Given the description of an element on the screen output the (x, y) to click on. 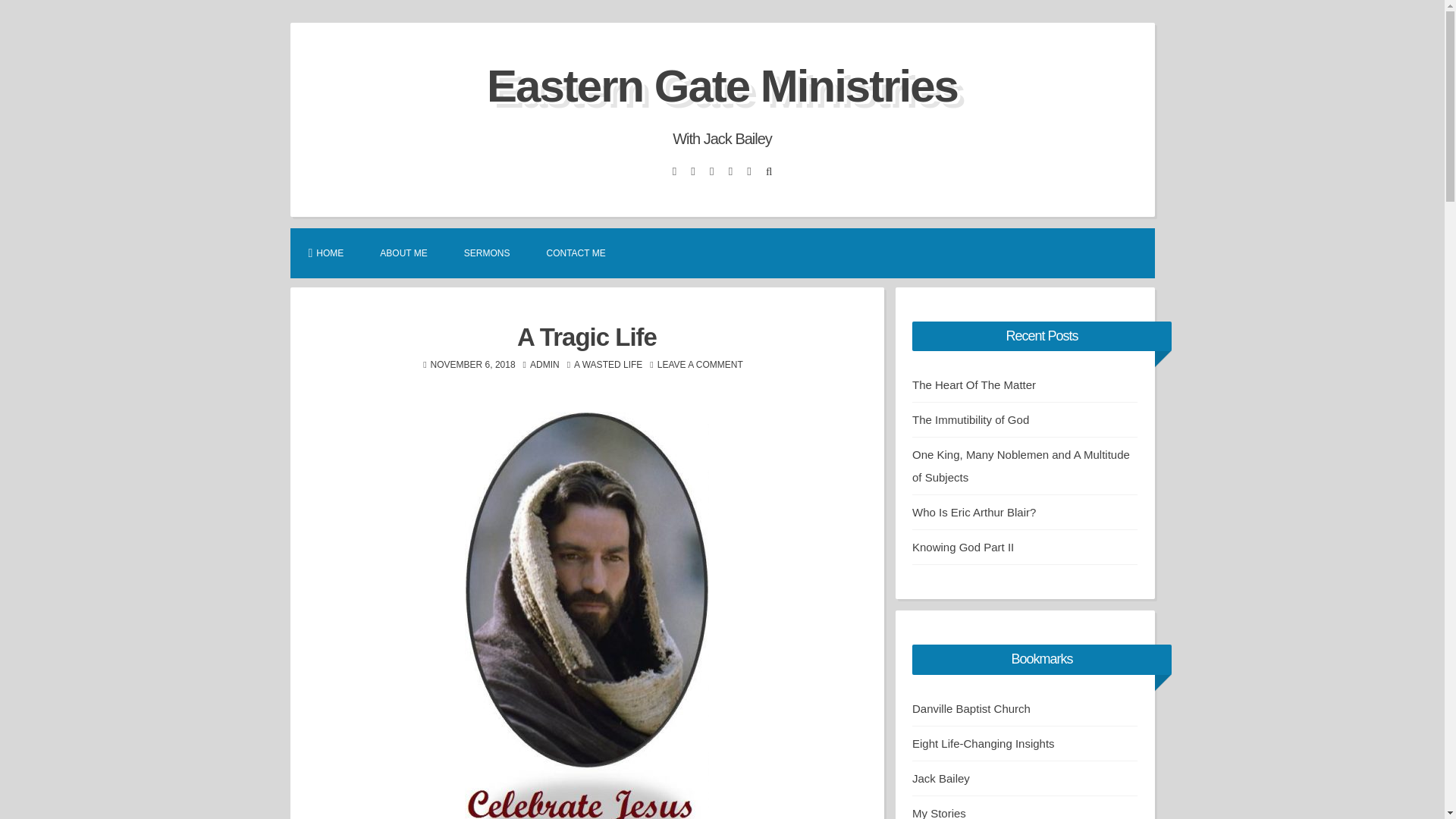
Eastern Gate Ministries (722, 85)
Who Is Eric Arthur Blair? (973, 512)
Jack Bailey (940, 778)
ABOUT ME (403, 252)
Knowing God Part II (962, 546)
The Immutibility of God (970, 419)
Dealing with Critical Life Issues (940, 778)
The Heart Of The Matter (973, 384)
Eight Life-Changing Insights (983, 743)
One King, Many Noblemen and A Multitude of Subjects (1020, 465)
SERMONS (486, 252)
ADMIN (544, 364)
A WASTED LIFE (607, 364)
CONTACT ME (575, 252)
